Given the description of an element on the screen output the (x, y) to click on. 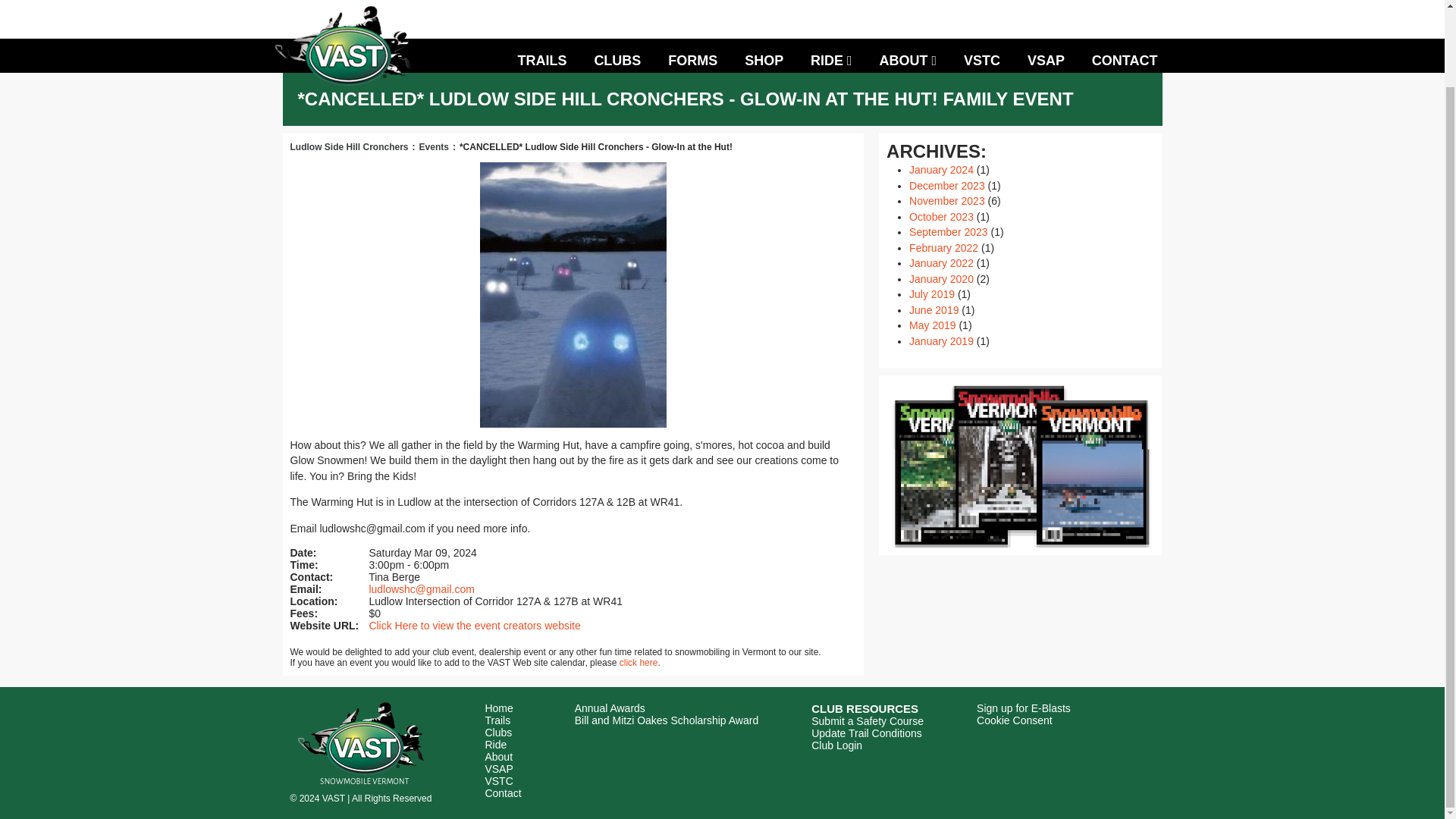
December 2023 (946, 185)
January 2024 (941, 169)
September 2023 (948, 232)
January 2019 (941, 340)
July 2019 (931, 294)
January 2022 (941, 263)
May 2019 (931, 325)
June 2019 (933, 309)
January 2020 (941, 278)
February 2022 (943, 247)
